Given the description of an element on the screen output the (x, y) to click on. 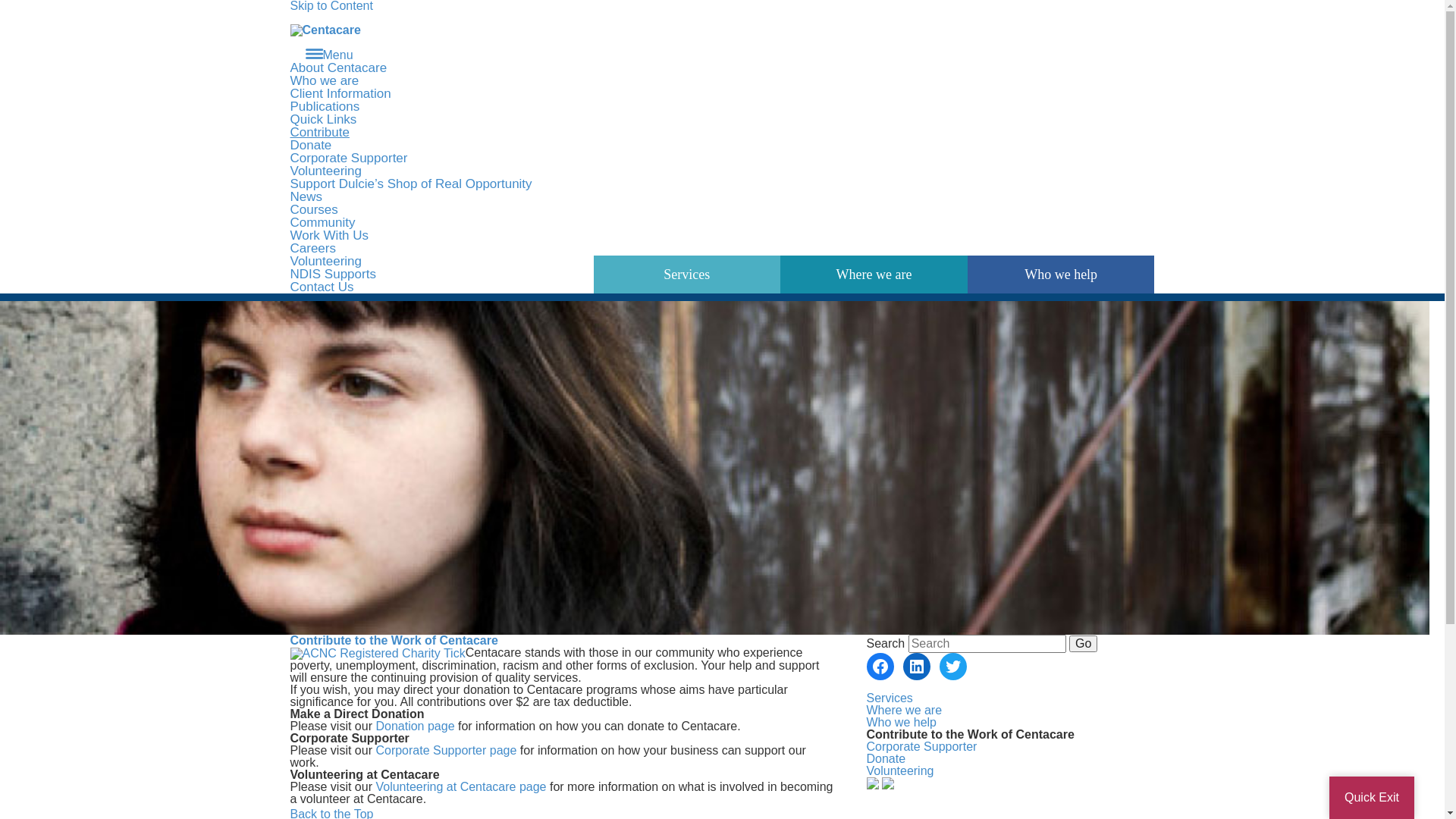
About Centacare Element type: text (337, 67)
News Element type: text (305, 196)
Twitter Element type: text (952, 666)
Corporate Supporter Element type: text (921, 746)
Publications Element type: text (324, 106)
Donation page Element type: text (414, 725)
Services Element type: text (686, 274)
Contact Us Element type: text (321, 286)
Donate Element type: text (885, 758)
Work With Us Element type: text (328, 235)
Volunteering at Centacare page Element type: text (460, 786)
Who we help Element type: text (1060, 274)
Volunteering Element type: text (325, 170)
Client Information Element type: text (339, 93)
Who we are Element type: text (323, 80)
LinkedIn Element type: text (915, 666)
Volunteering Element type: text (899, 770)
Careers Element type: text (312, 248)
Donate Element type: text (310, 145)
NDIS Supports Element type: text (332, 273)
Contribute Element type: text (318, 132)
Where we are Element type: text (873, 274)
Facebook Element type: text (879, 666)
Where we are Element type: text (903, 709)
Menu Element type: text (328, 54)
Volunteering Element type: text (325, 261)
Corporate Supporter page Element type: text (445, 749)
Services Element type: text (889, 697)
Quick Links Element type: text (322, 119)
Community Element type: text (321, 222)
Who we help Element type: text (901, 721)
Corporate Supporter Element type: text (348, 157)
Contribute to the Work of Centacare Element type: text (393, 639)
Go Element type: text (1083, 643)
Courses Element type: text (313, 209)
